Given the description of an element on the screen output the (x, y) to click on. 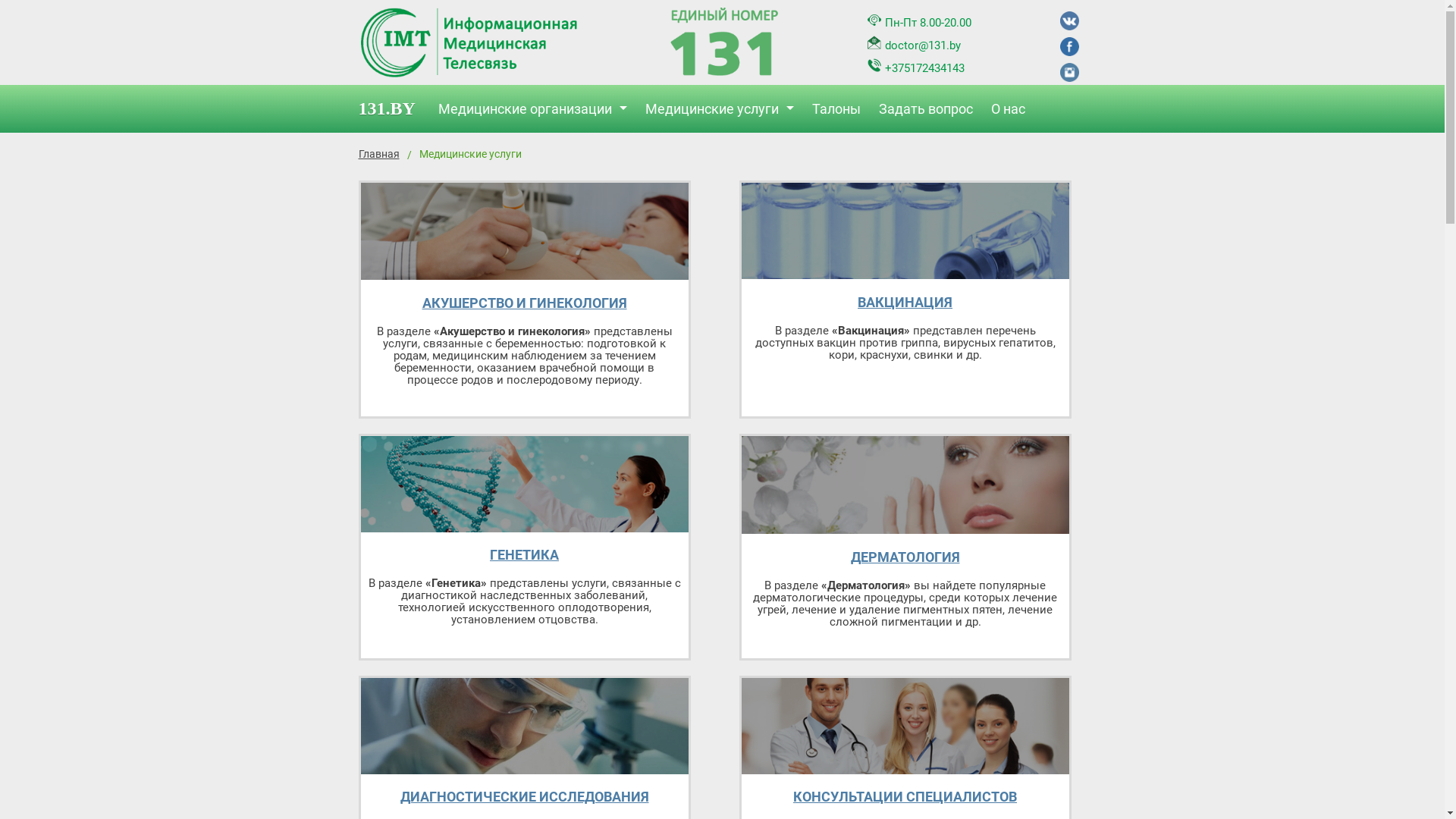
131.BY Element type: text (393, 108)
IMT Element type: hover (724, 43)
